Given the description of an element on the screen output the (x, y) to click on. 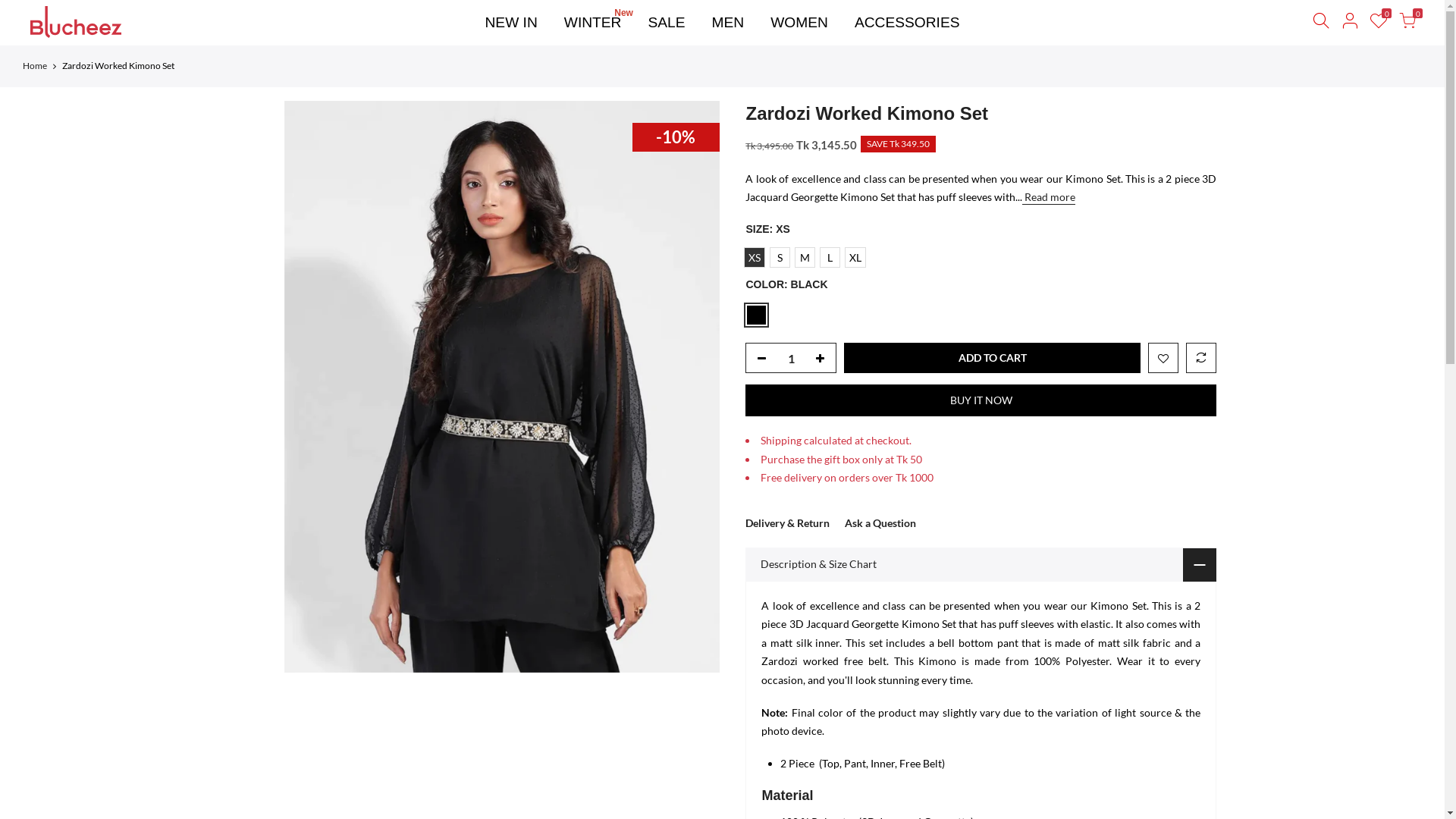
Delivery & Return Element type: text (787, 522)
Ask a Question Element type: text (880, 522)
ACCESSORIES Element type: text (906, 22)
WINTER
New Element type: text (592, 22)
MEN Element type: text (727, 22)
Description & Size Chart Element type: text (980, 564)
NEW IN Element type: text (510, 22)
Home Element type: text (34, 65)
0 Element type: text (1407, 23)
SALE Element type: text (666, 22)
Shipping Element type: text (780, 439)
0 Element type: text (1378, 23)
BUY IT NOW Element type: text (980, 400)
ADD TO CART Element type: text (992, 357)
WOMEN Element type: text (799, 22)
Read more Element type: text (1048, 197)
